Given the description of an element on the screen output the (x, y) to click on. 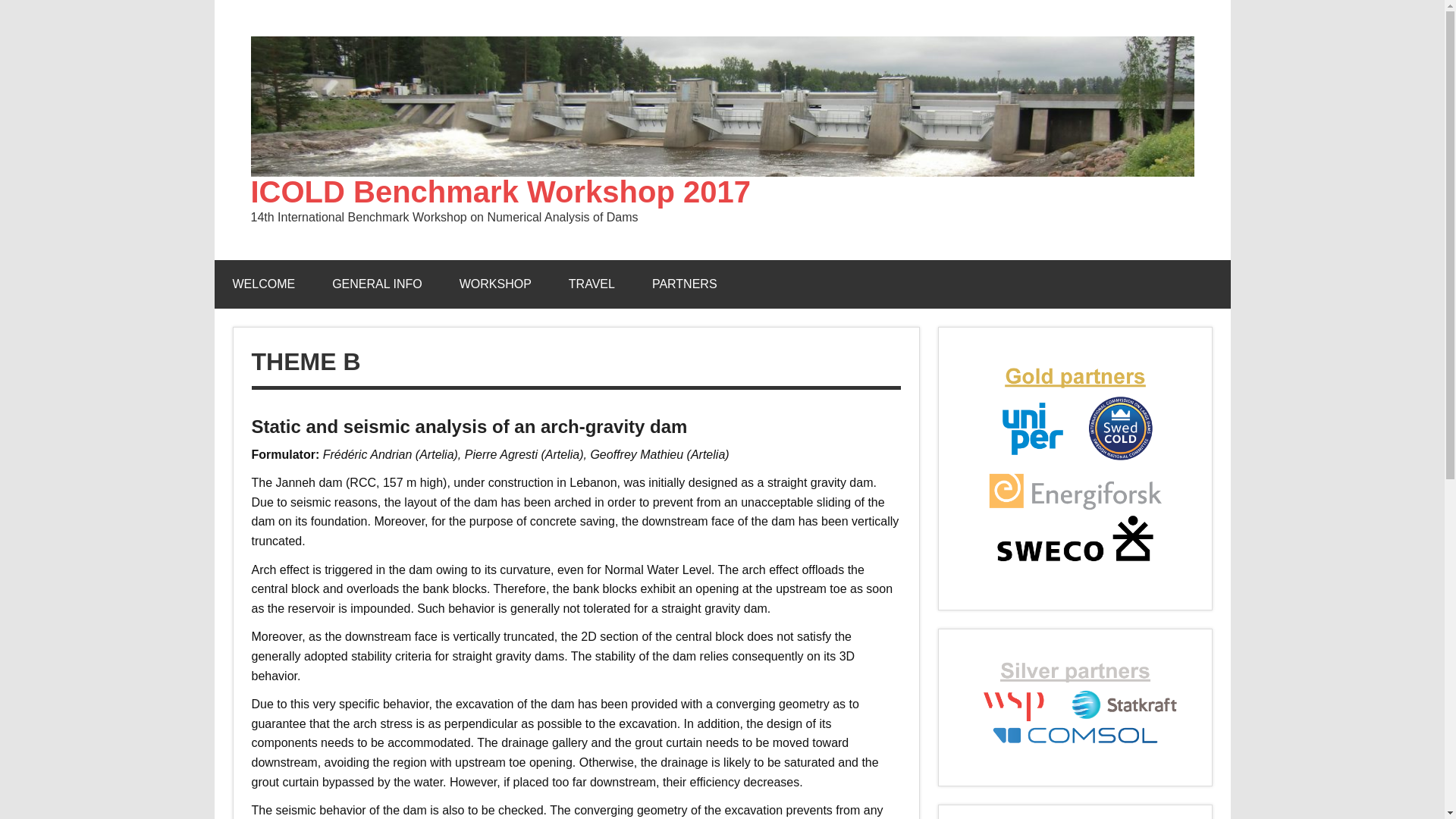
PARTNERS (684, 284)
WELCOME (263, 284)
ICOLD Benchmark Workshop 2017 (499, 191)
WORKSHOP (495, 284)
GENERAL INFO (377, 284)
TRAVEL (591, 284)
